Given the description of an element on the screen output the (x, y) to click on. 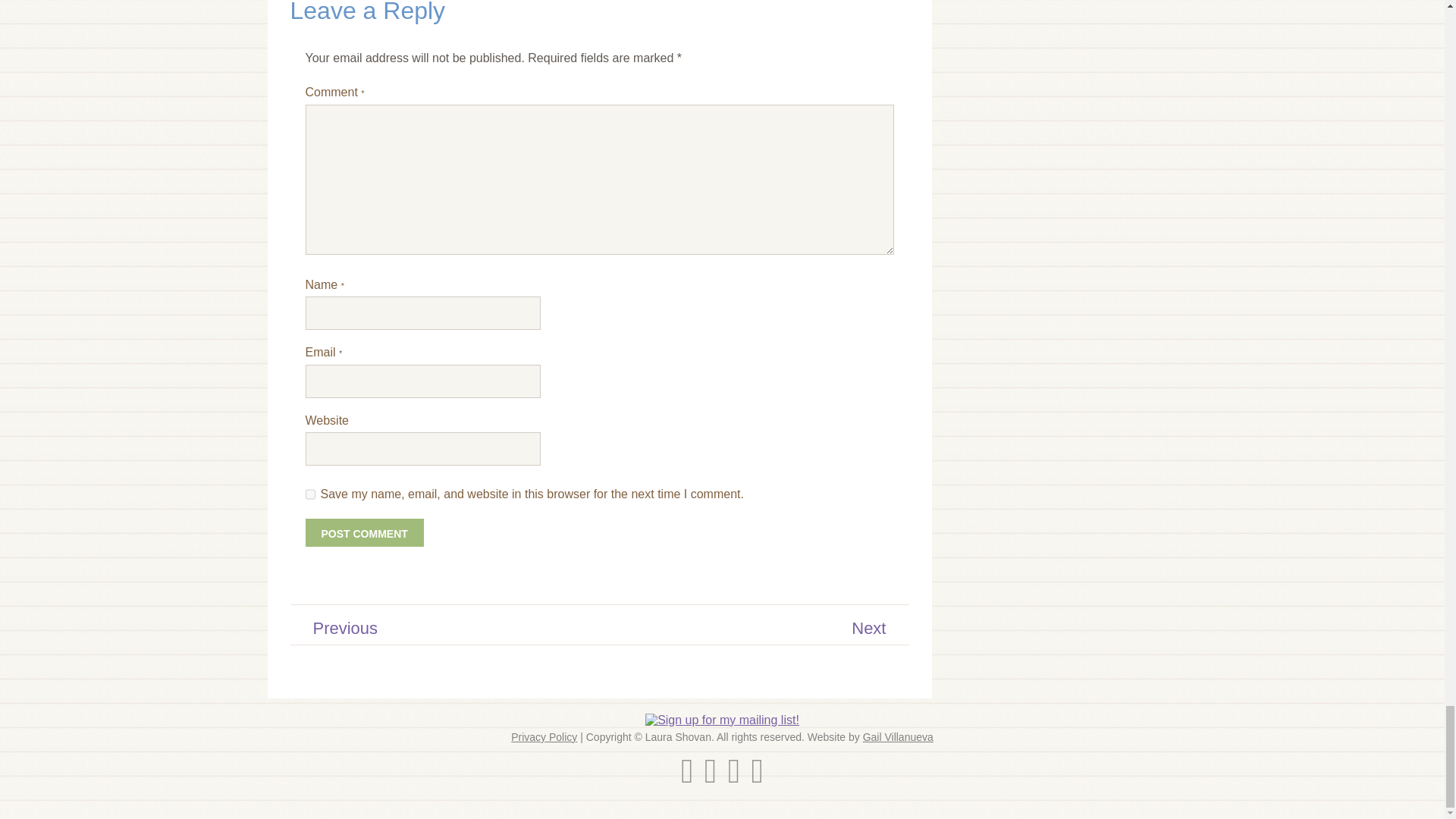
Instagram (710, 778)
Post Comment (363, 532)
Twitter (687, 778)
Contact Me (756, 778)
Goodreads (733, 778)
